Given the description of an element on the screen output the (x, y) to click on. 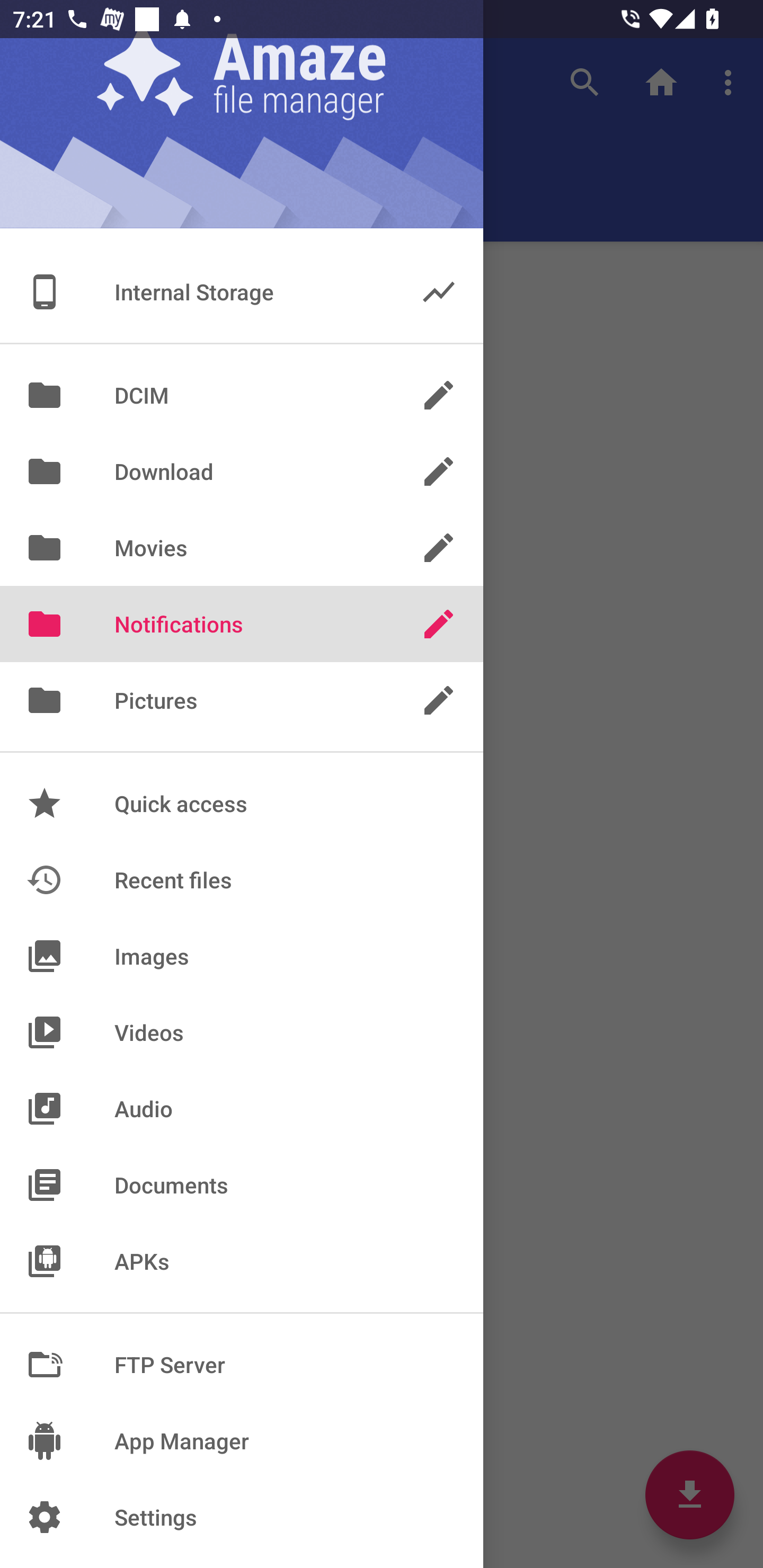
Internal Storage (241, 291)
DCIM (241, 394)
Download (241, 470)
Movies (241, 547)
Notifications (241, 623)
Pictures (241, 699)
Quick access (241, 803)
Recent files (241, 879)
Images (241, 955)
Videos (241, 1032)
Audio (241, 1108)
Documents (241, 1184)
APKs (241, 1261)
FTP Server (241, 1364)
App Manager (241, 1440)
Settings (241, 1516)
